Given the description of an element on the screen output the (x, y) to click on. 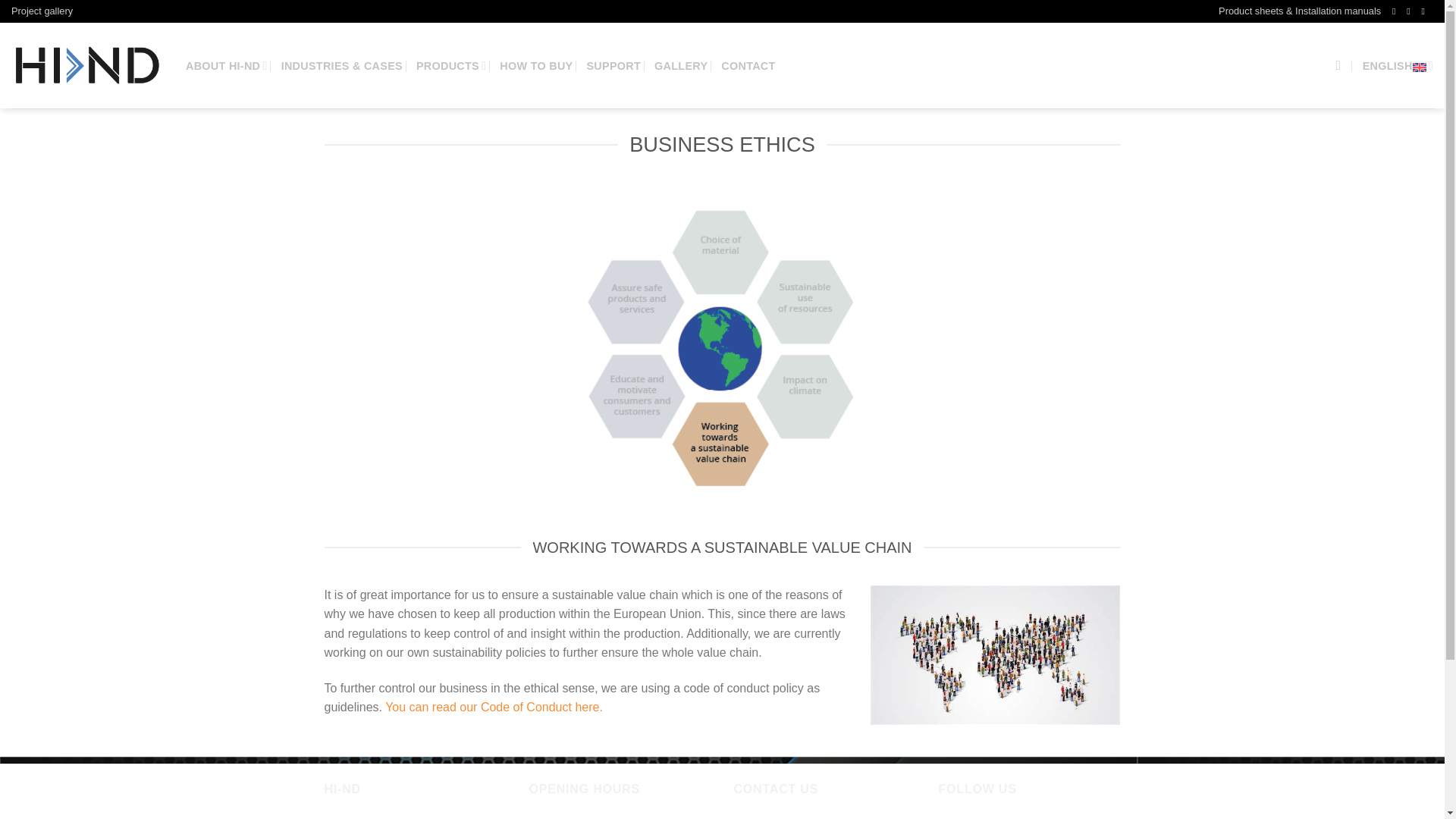
SUPPORT (613, 65)
HOW TO BUY (535, 65)
You can read our Code of Conduct here. (493, 707)
PRODUCTS (451, 65)
ENGLISH (1397, 65)
Project gallery (41, 11)
CONTACT (747, 65)
GALLERY (680, 65)
HI-ND - Mounting Solutions (87, 65)
ABOUT HI-ND (226, 65)
